Given the description of an element on the screen output the (x, y) to click on. 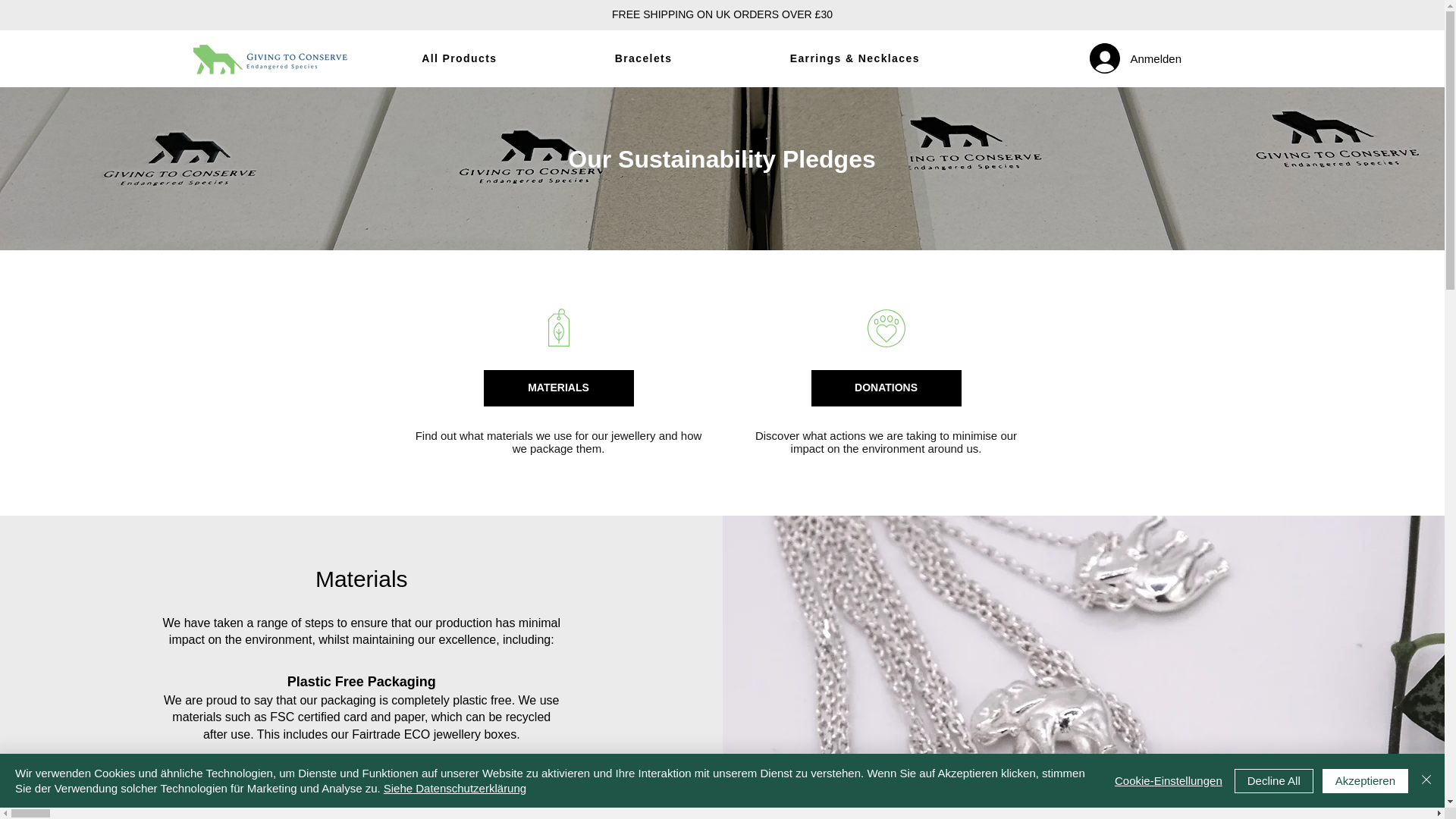
Anmelden (1104, 57)
MATERIALS (557, 388)
DONATIONS (884, 388)
All Products (459, 59)
Akzeptieren (1364, 781)
Decline All (1273, 781)
Bracelets (643, 59)
